Given the description of an element on the screen output the (x, y) to click on. 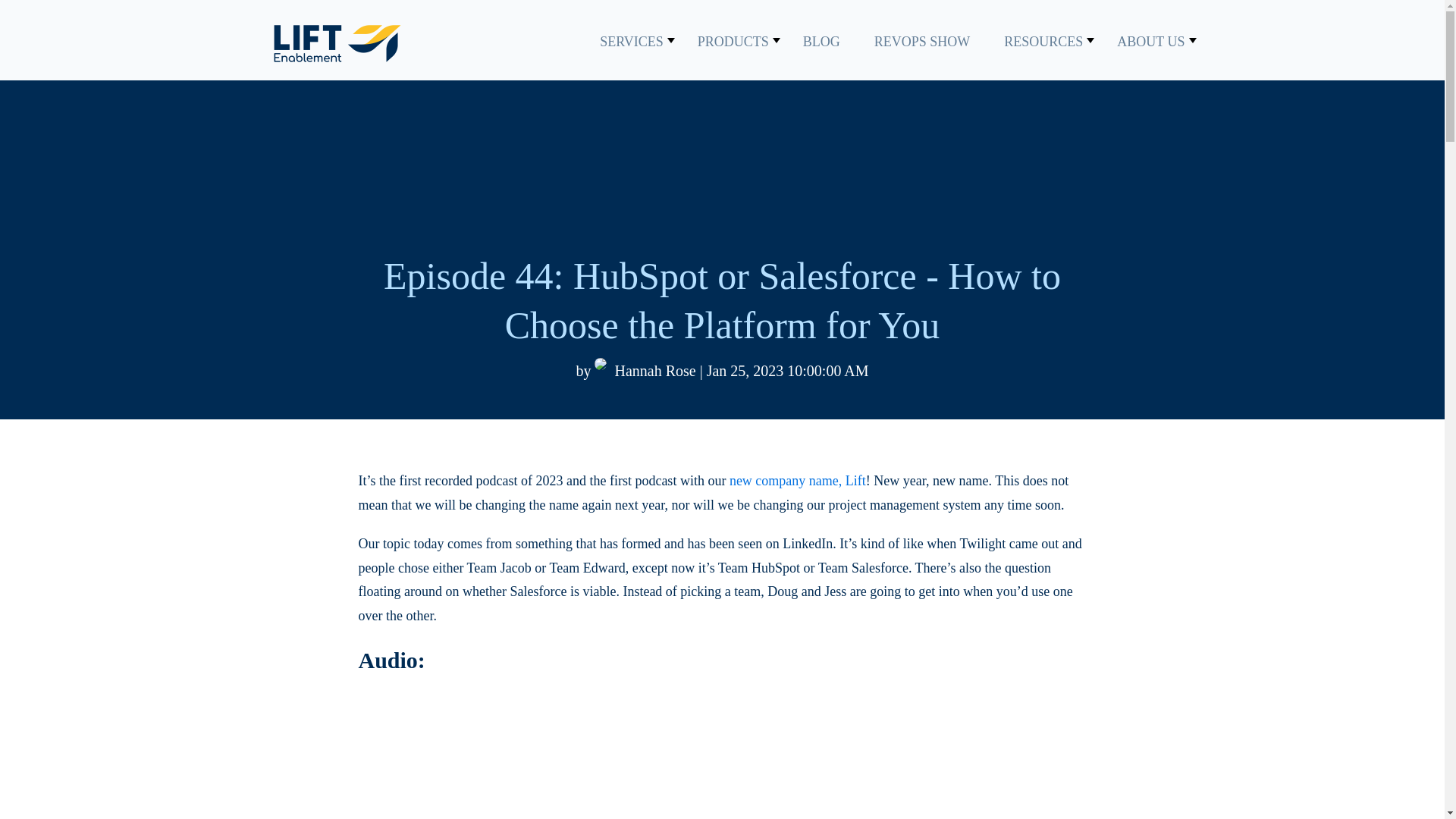
ABOUT US (1150, 41)
SERVICES (631, 41)
PRODUCTS (732, 41)
BLOG (821, 41)
Lift-Enablement (336, 43)
REVOPS SHOW (923, 41)
RESOURCES (1043, 41)
